Given the description of an element on the screen output the (x, y) to click on. 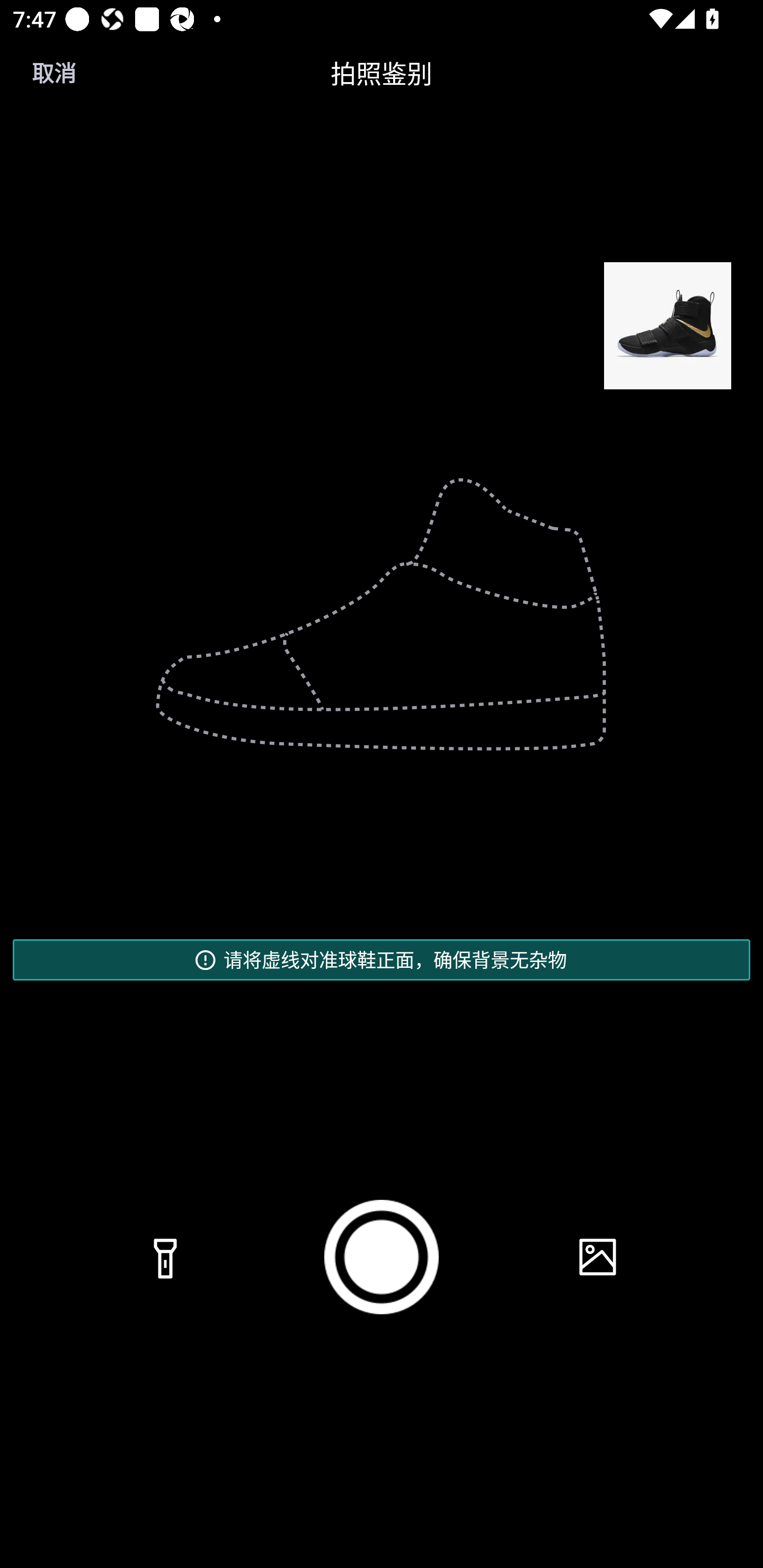
取消 (54, 72)
